Given the description of an element on the screen output the (x, y) to click on. 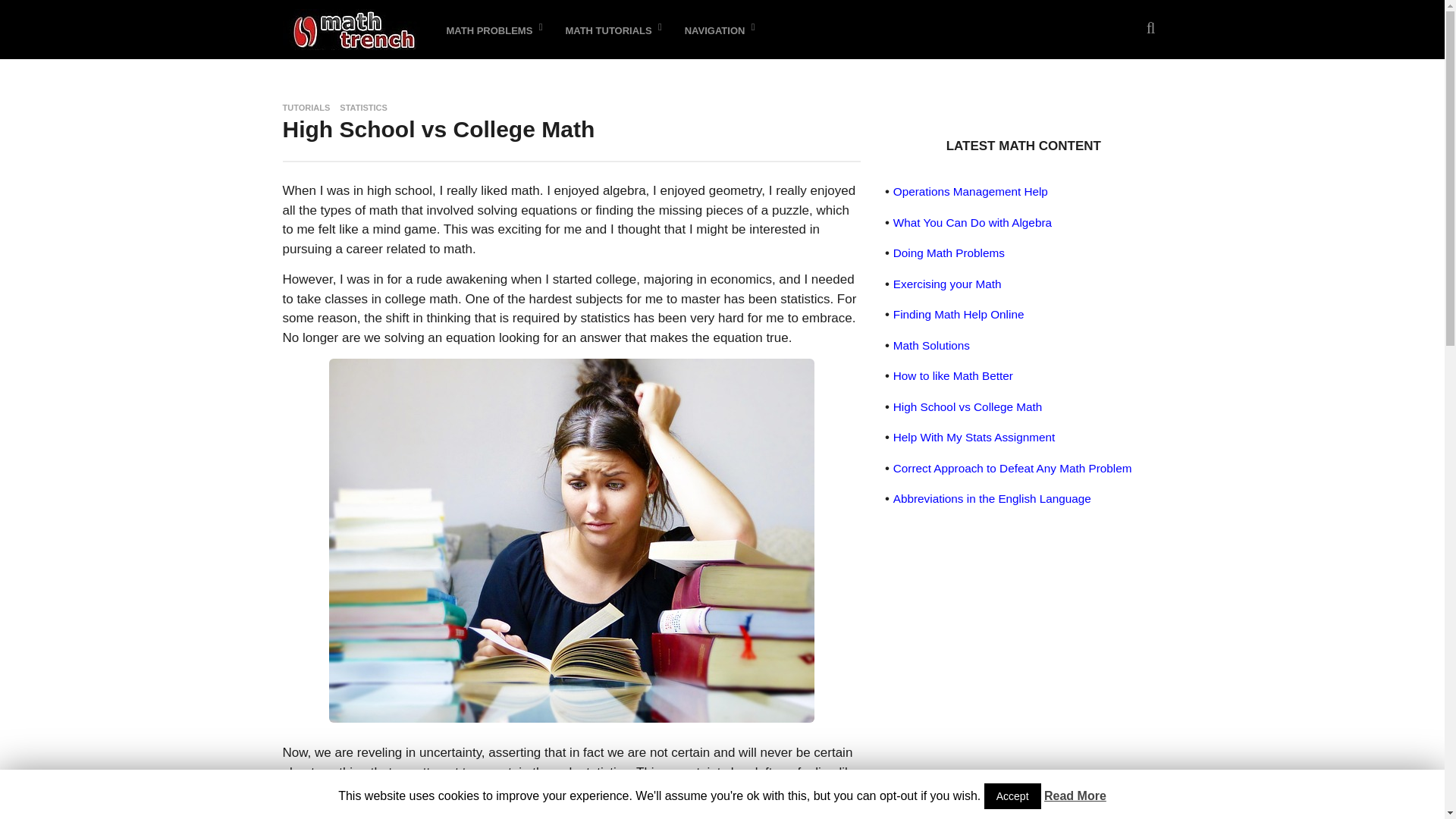
MATH TUTORIALS (609, 29)
TUTORIALS (306, 107)
MATH PROBLEMS (489, 29)
STATISTICS (363, 107)
NAVIGATION (716, 29)
